Given the description of an element on the screen output the (x, y) to click on. 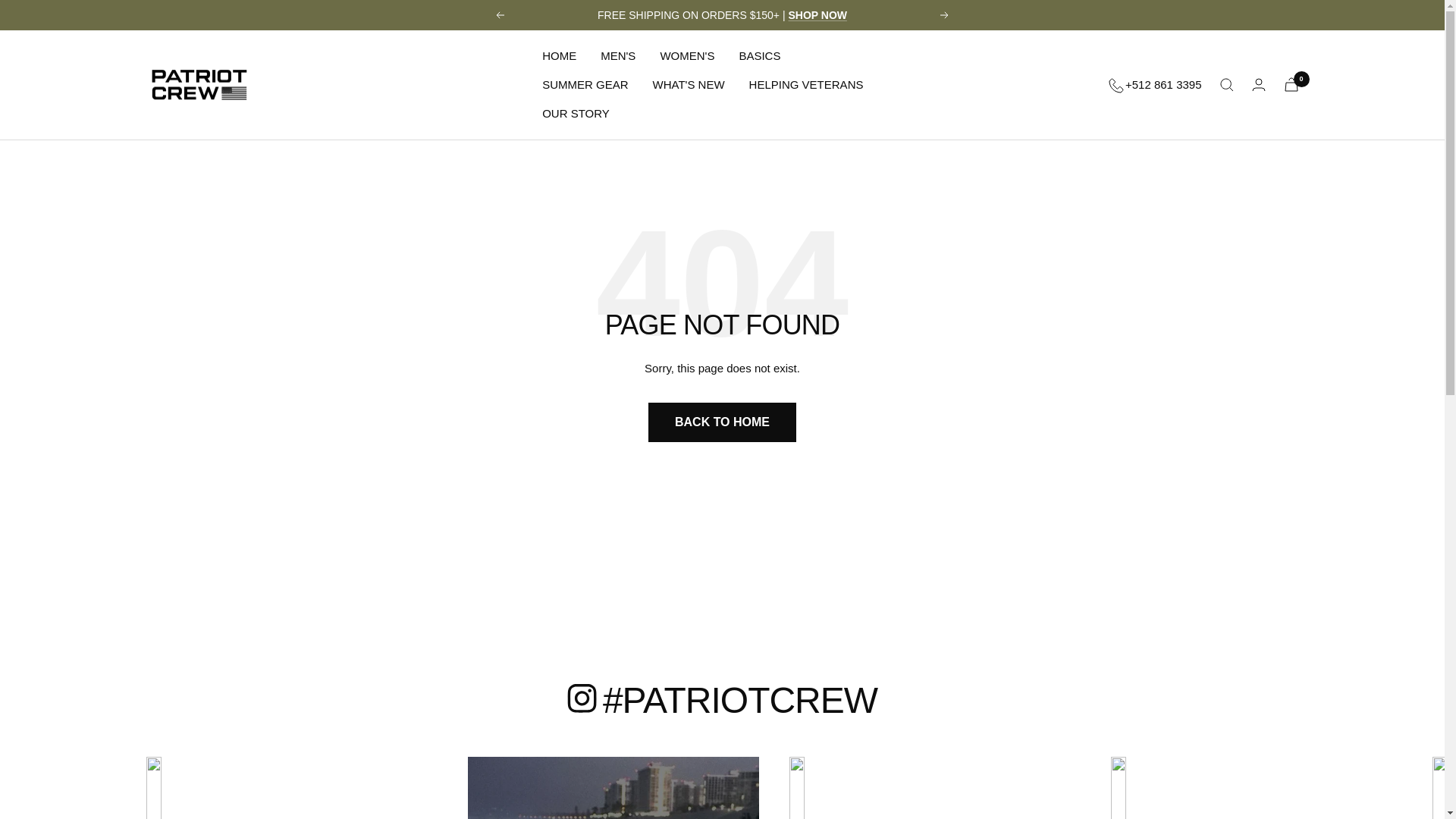
HELPING VETERANS (806, 85)
0 (1291, 83)
OUR STORY (575, 113)
BACK TO HOME (721, 422)
WHAT'S NEW (688, 85)
SUMMER GEAR (584, 85)
MEN'S (616, 55)
Previous (499, 14)
BASICS (759, 55)
HOME (558, 55)
